Given the description of an element on the screen output the (x, y) to click on. 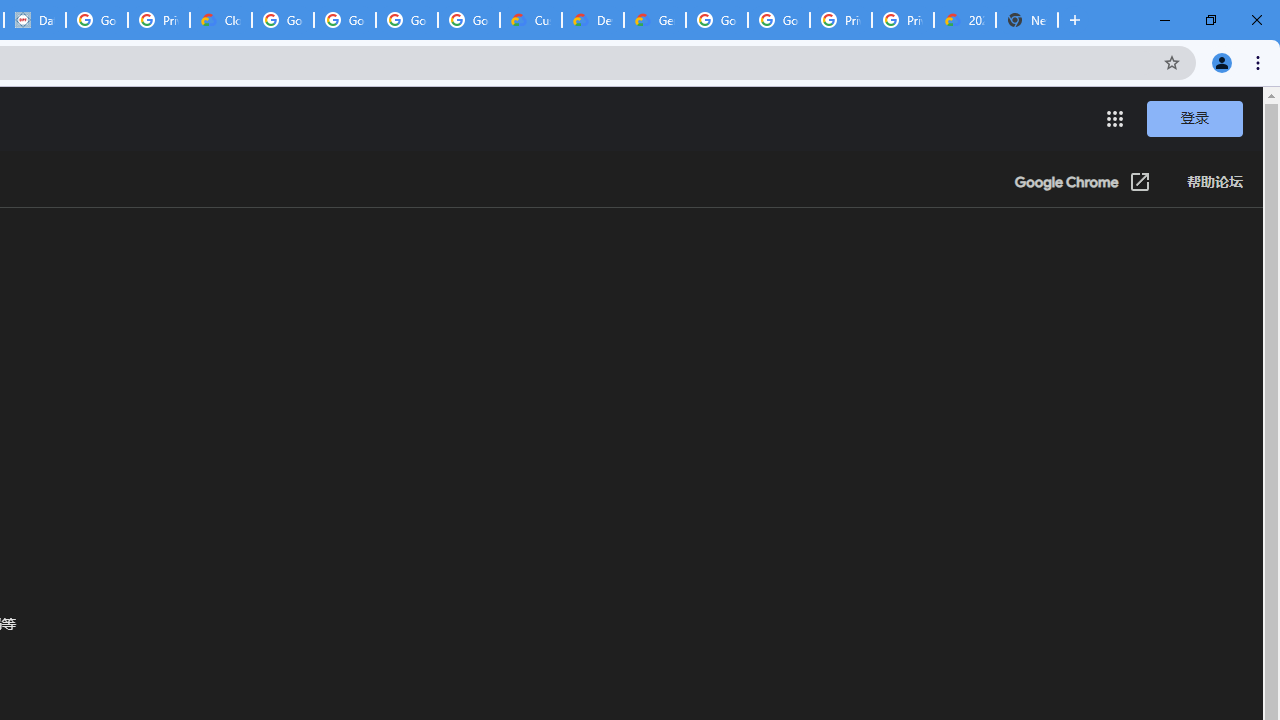
Gemini for Business and Developers | Google Cloud (654, 20)
Customer Care | Google Cloud (530, 20)
Google Cloud Platform (716, 20)
Google Workspace - Specific Terms (406, 20)
